Given the description of an element on the screen output the (x, y) to click on. 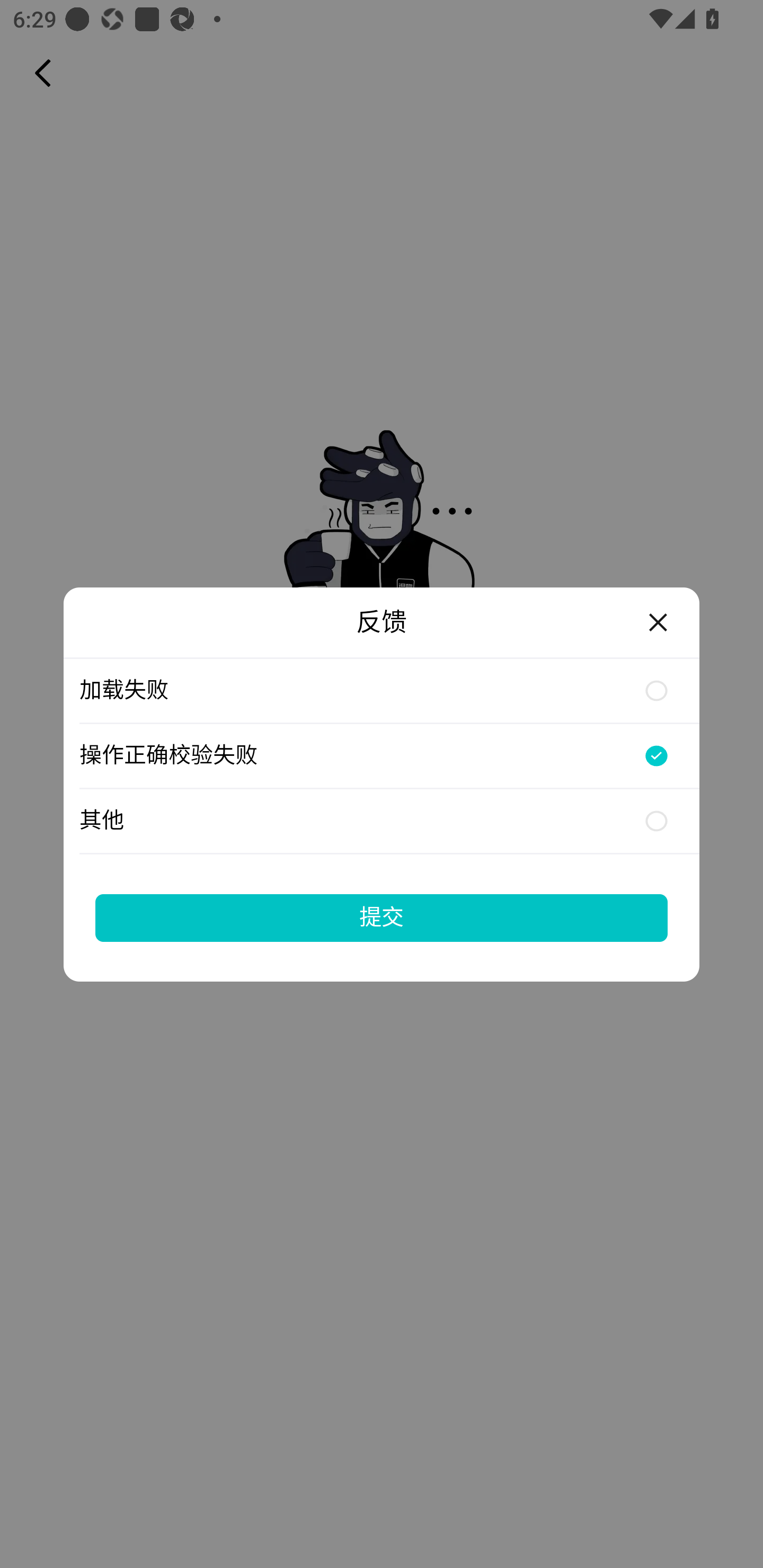
提交 (381, 917)
